Given the description of an element on the screen output the (x, y) to click on. 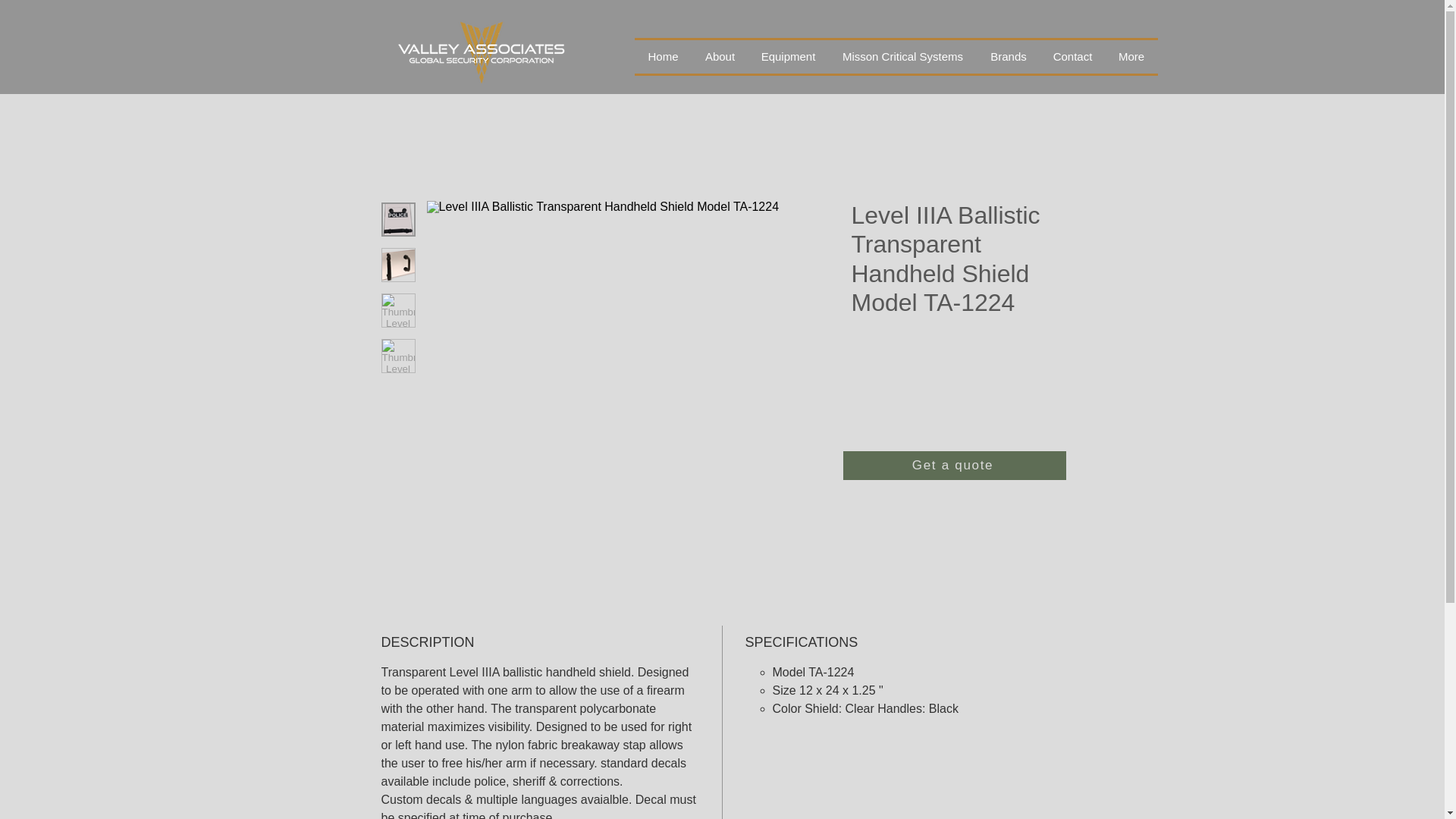
Equipment (788, 56)
Contact (1073, 56)
About (719, 56)
Brands (1007, 56)
Home (662, 56)
Get a quote (954, 465)
Misson Critical Systems (902, 56)
